Given the description of an element on the screen output the (x, y) to click on. 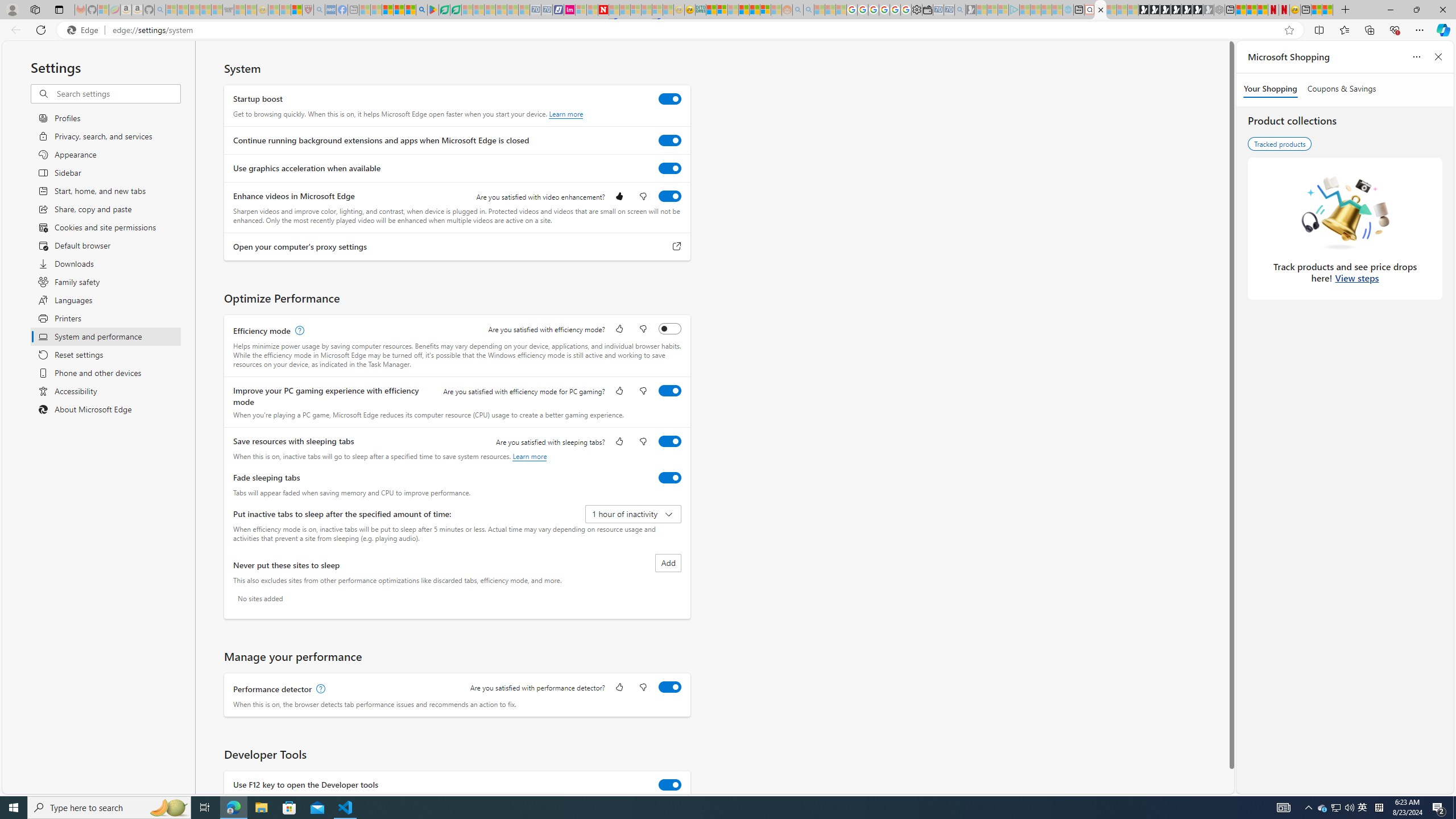
Wallet (927, 9)
Play Cave FRVR in your browser | Games from Microsoft Start (1164, 9)
Enhance videos in Microsoft Edge (669, 196)
